Given the description of an element on the screen output the (x, y) to click on. 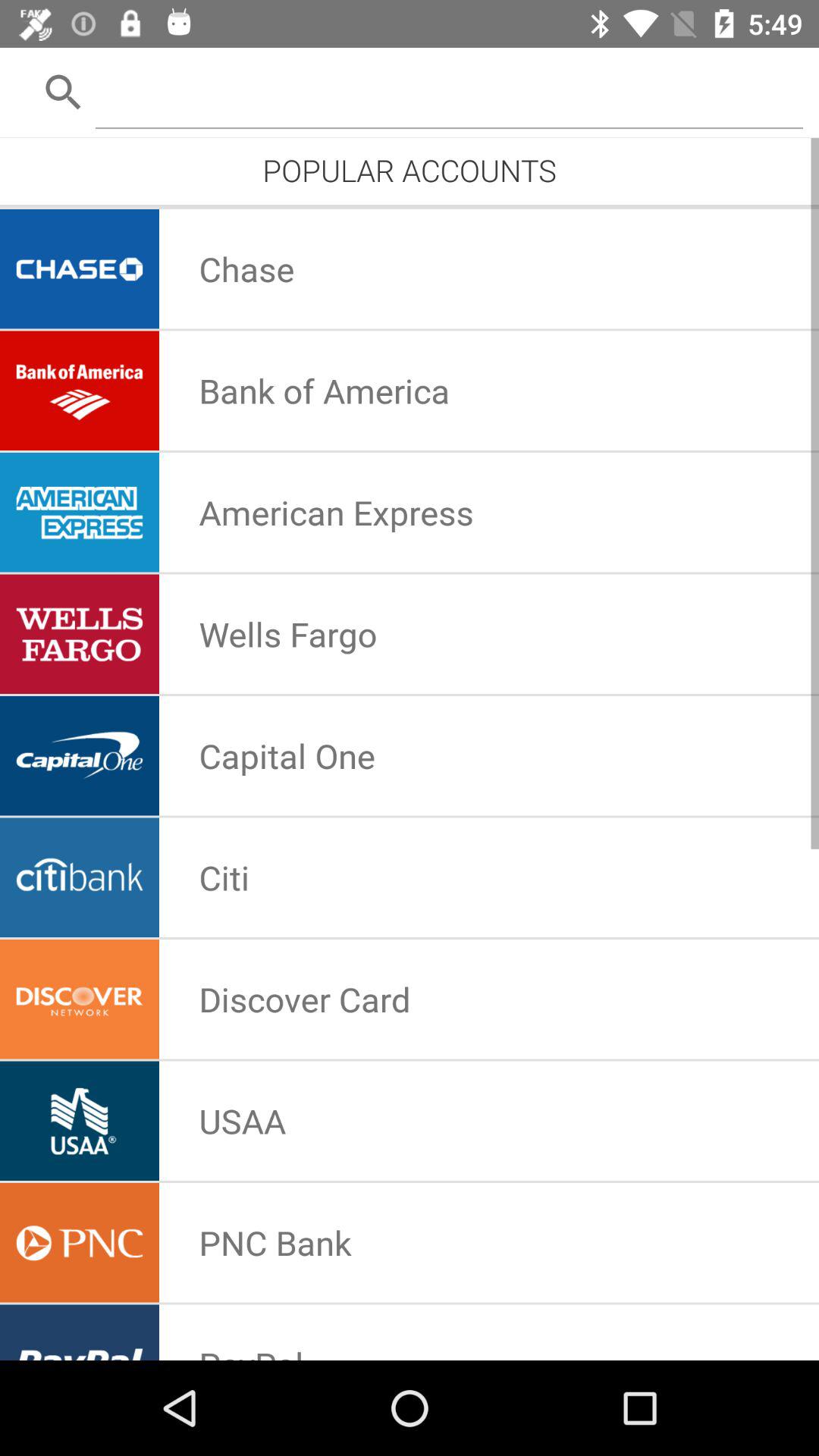
press usaa app (242, 1120)
